Given the description of an element on the screen output the (x, y) to click on. 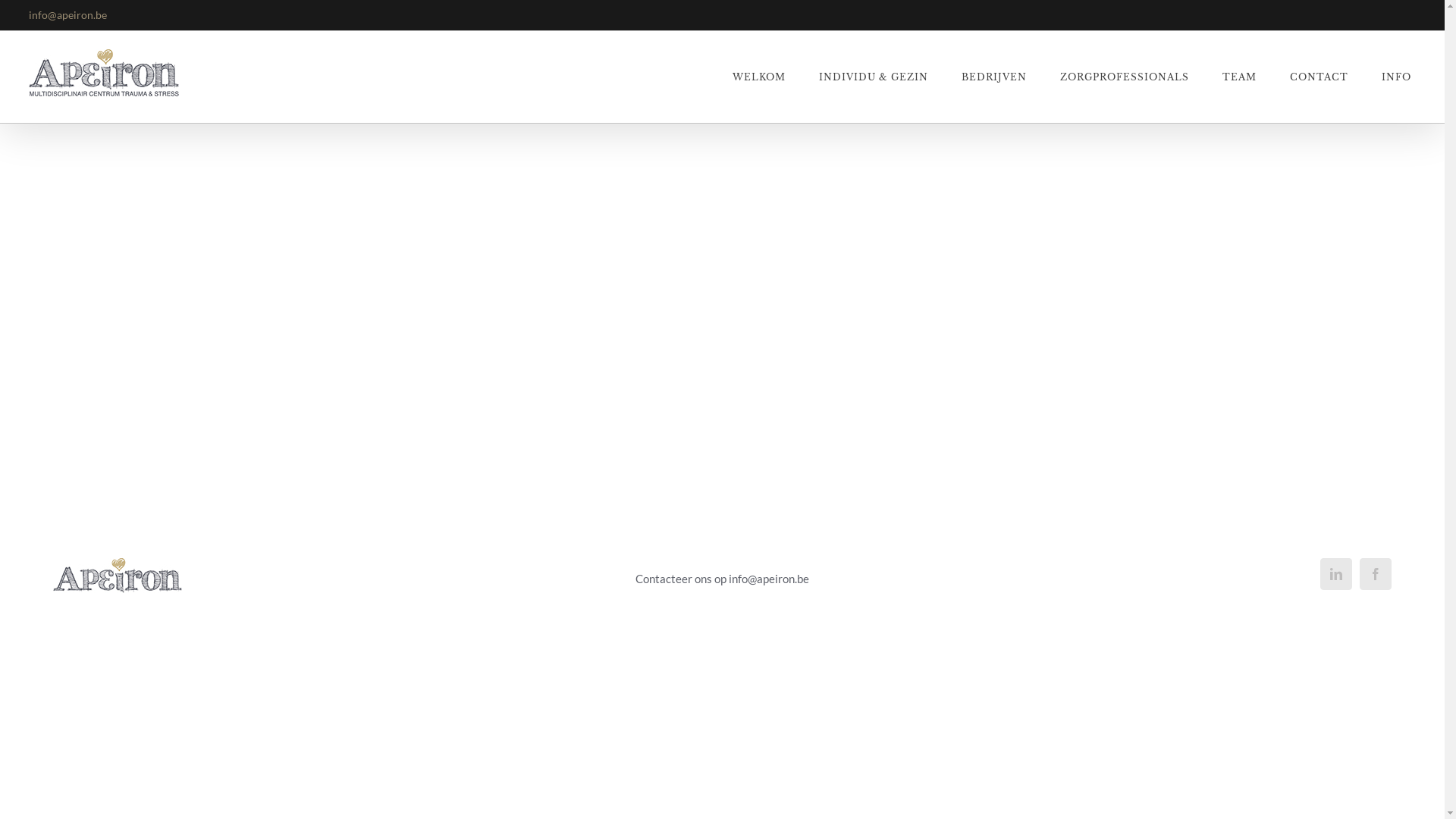
TEAM Element type: text (1239, 76)
CONTACT Element type: text (1318, 76)
INFO Element type: text (1396, 76)
info@apeiron.be Element type: text (67, 14)
INDIVIDU & GEZIN Element type: text (873, 76)
ZORGPROFESSIONALS Element type: text (1124, 76)
BEDRIJVEN Element type: text (993, 76)
WELKOM Element type: text (758, 76)
Contacteer ons op info@apeiron.be Element type: text (722, 578)
